Given the description of an element on the screen output the (x, y) to click on. 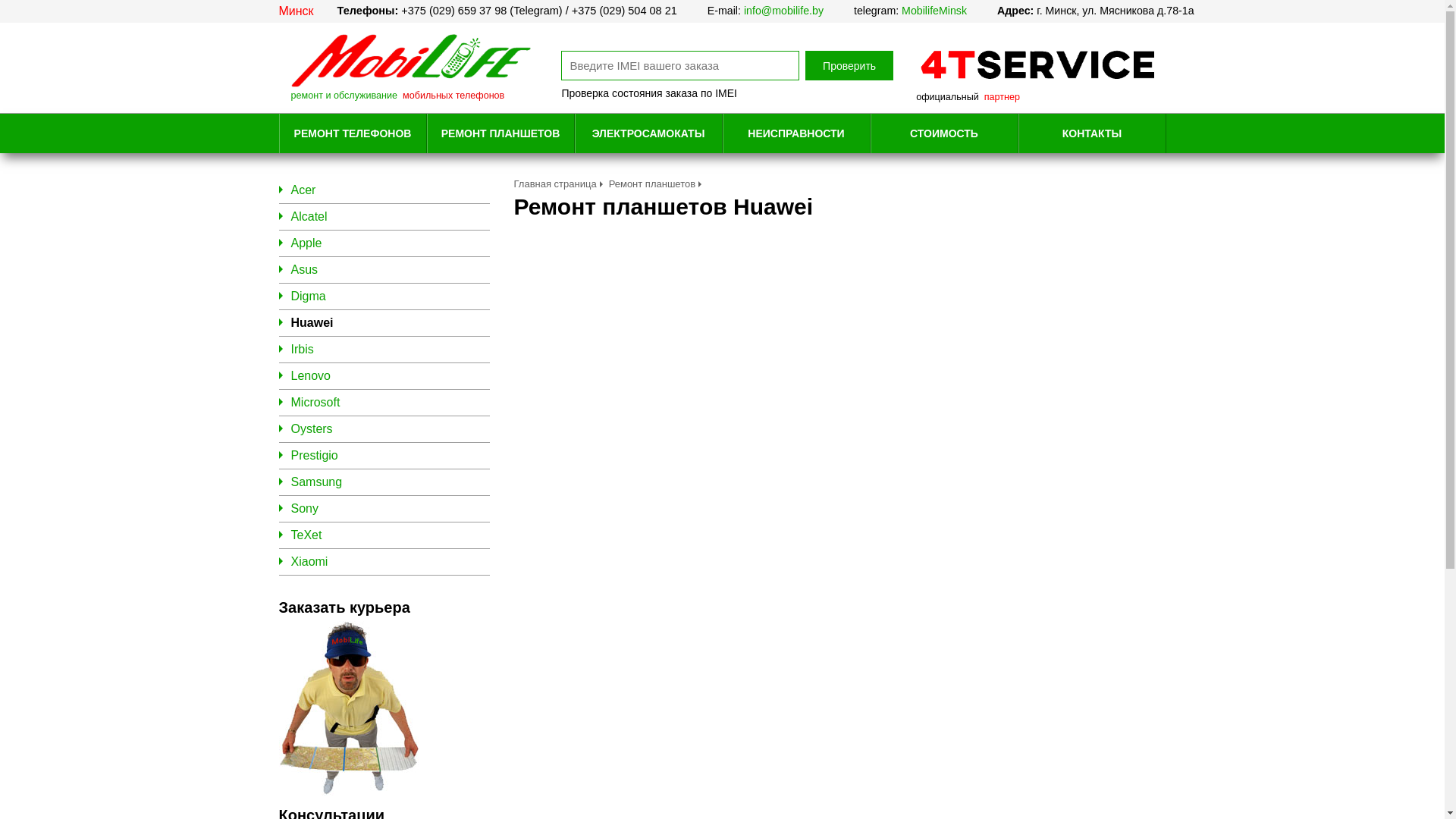
Sony Element type: text (304, 508)
Oysters Element type: text (311, 428)
TeXet Element type: text (306, 534)
Huawei Element type: text (312, 322)
Lenovo Element type: text (311, 375)
Digma Element type: text (308, 295)
Alcatel Element type: text (309, 216)
MobilifeMinsk Element type: text (933, 10)
Xiaomi Element type: text (309, 561)
Acer Element type: text (303, 189)
Prestigio Element type: text (314, 454)
Apple Element type: text (306, 242)
Asus Element type: text (304, 269)
Irbis Element type: text (302, 348)
Microsoft Element type: text (315, 401)
info@mobilife.by Element type: text (783, 10)
Samsung Element type: text (316, 481)
